Given the description of an element on the screen output the (x, y) to click on. 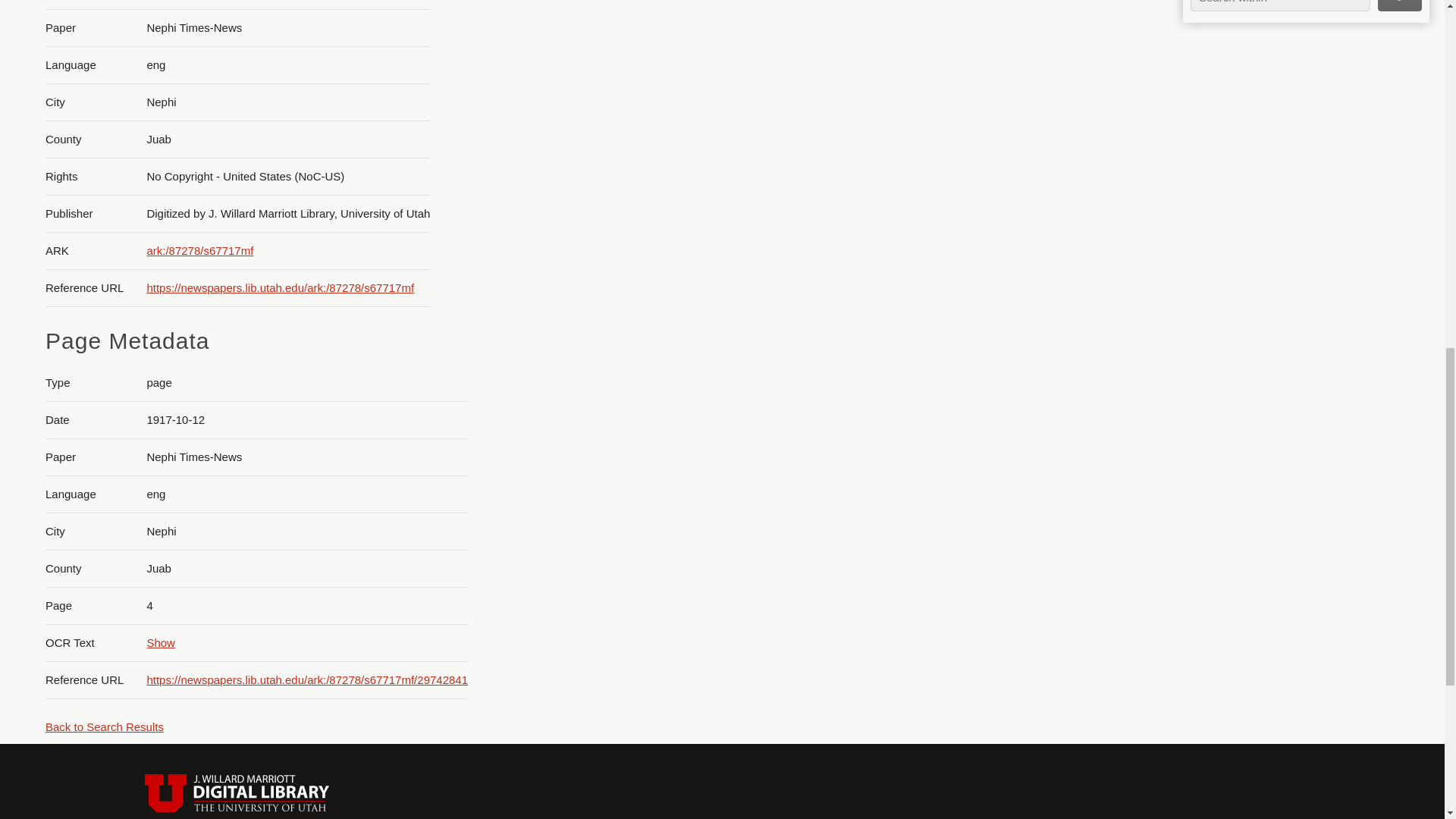
Page 6 (1299, 156)
Page 7 (1299, 296)
Back to Search Results (104, 726)
Show (160, 642)
Page 8 (1299, 435)
Page 5 (1299, 43)
